Given the description of an element on the screen output the (x, y) to click on. 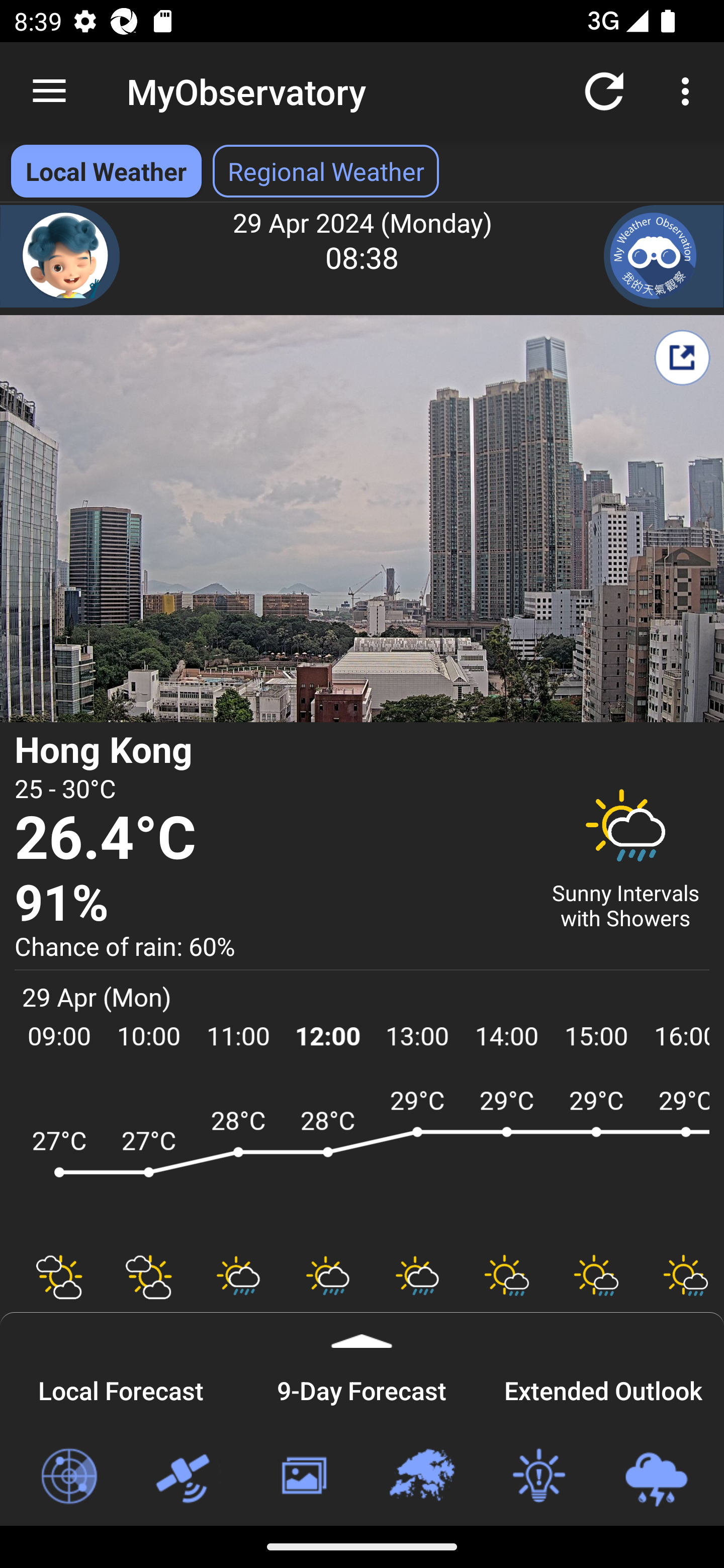
Navigate up (49, 91)
Refresh (604, 90)
More options (688, 90)
Local Weather Local Weather selected (105, 170)
Regional Weather Select Regional Weather (325, 170)
Chatbot (60, 256)
My Weather Observation (663, 256)
Share My Weather Report (681, 357)
26.4°C Temperature
26.4 degree Celsius (270, 839)
91% Relative Humidity
91 percent (270, 903)
ARWF (361, 1160)
Expand (362, 1330)
Local Forecast (120, 1387)
Extended Outlook (603, 1387)
Radar Images (68, 1476)
Satellite Images (185, 1476)
Weather Photos (302, 1476)
Regional Weather (420, 1476)
Weather Tips (537, 1476)
Loc-based Rain & Lightning Forecast (655, 1476)
